Given the description of an element on the screen output the (x, y) to click on. 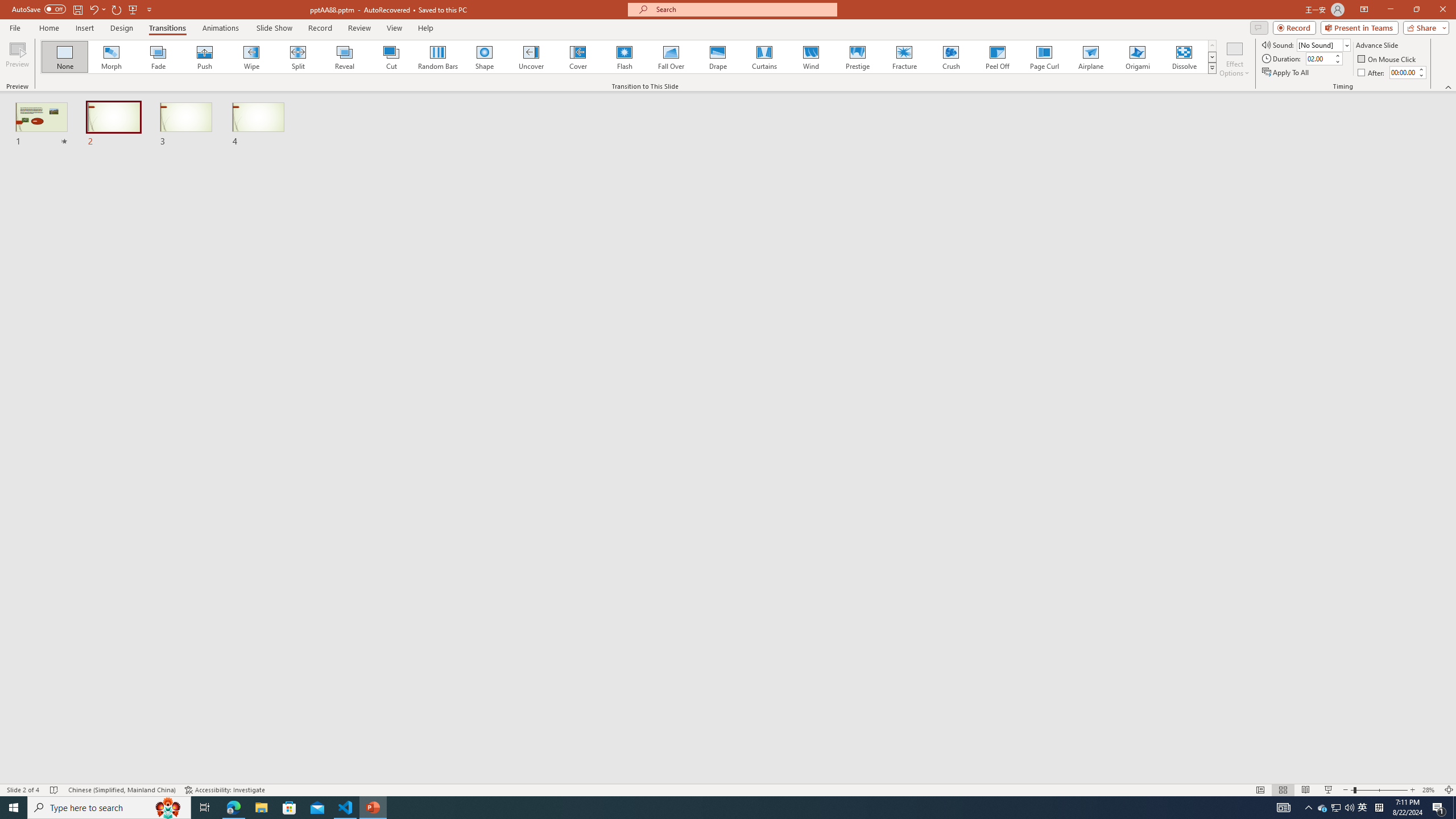
Cover (577, 56)
Cut (391, 56)
Less (1420, 75)
Origami (1136, 56)
Push (205, 56)
